Given the description of an element on the screen output the (x, y) to click on. 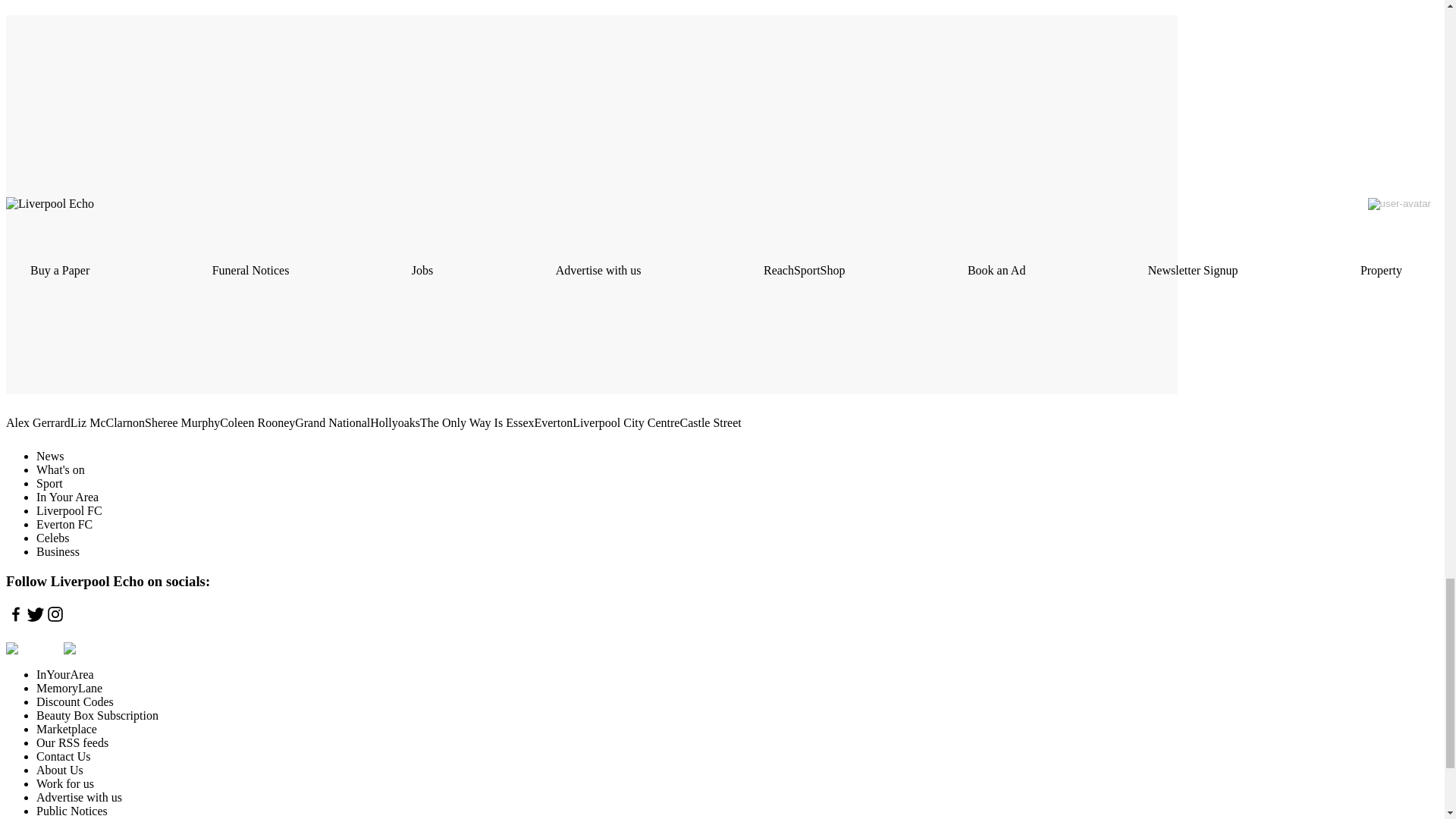
Grand National (332, 422)
Hollyoaks (394, 422)
The Only Way Is Essex (477, 422)
Liz McClarnon (106, 422)
Coleen Rooney (257, 422)
Sheree Murphy (181, 422)
Alex Gerrard (37, 422)
